Given the description of an element on the screen output the (x, y) to click on. 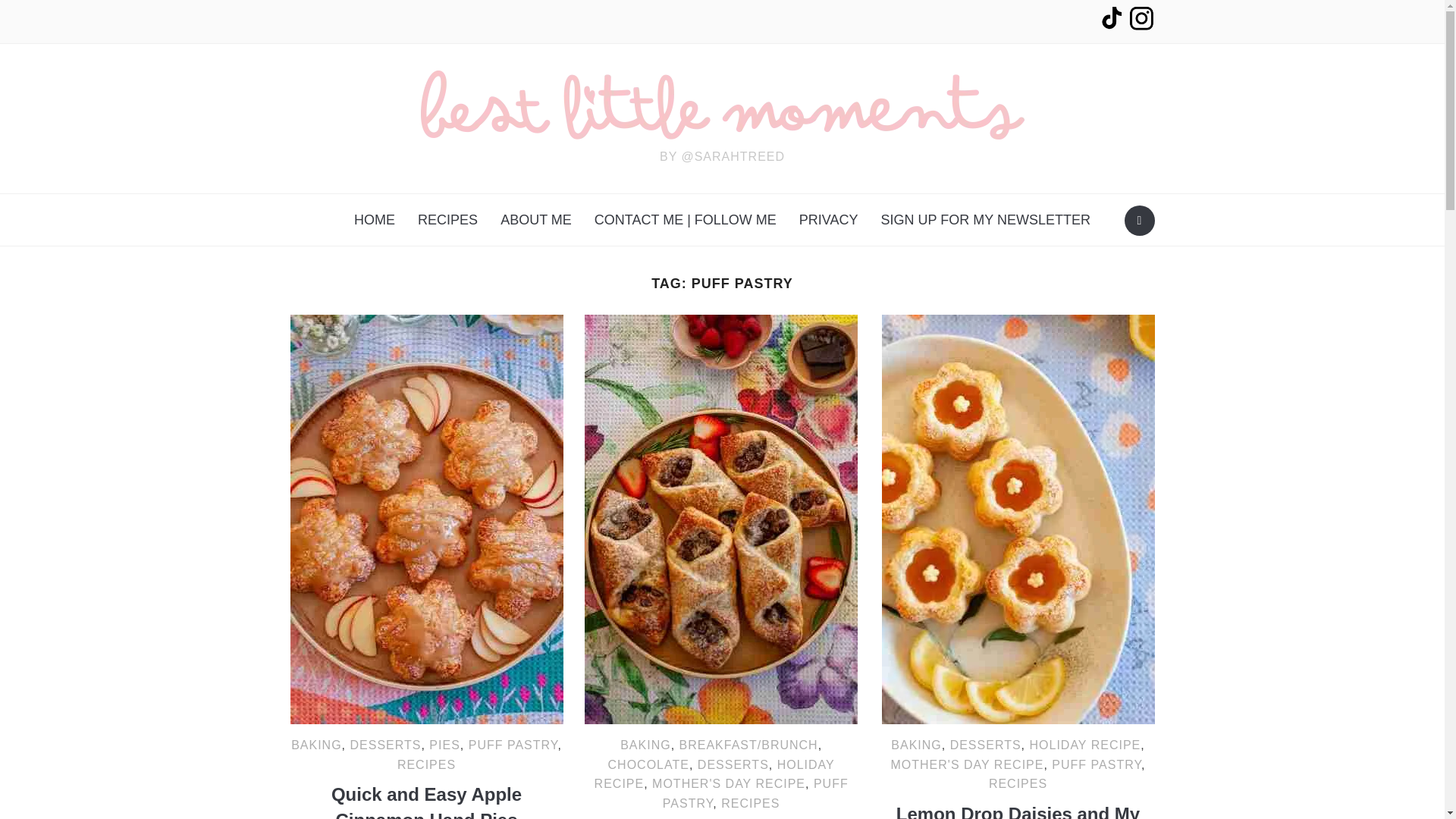
Quick and Easy Apple Cinnamon Hand Pies (425, 517)
Quick and Easy Apple Cinnamon Hand Pies (426, 801)
Lemon Drop Daisies and My Geometry House Collection (1017, 517)
BAKING (315, 744)
BAKING (644, 744)
Mocha Cappuccino Inspired Puff Pastry Danish (721, 517)
RECIPES (447, 220)
PUFF PASTRY (512, 744)
RECIPES (426, 764)
CHOCOLATE (648, 764)
